Given the description of an element on the screen output the (x, y) to click on. 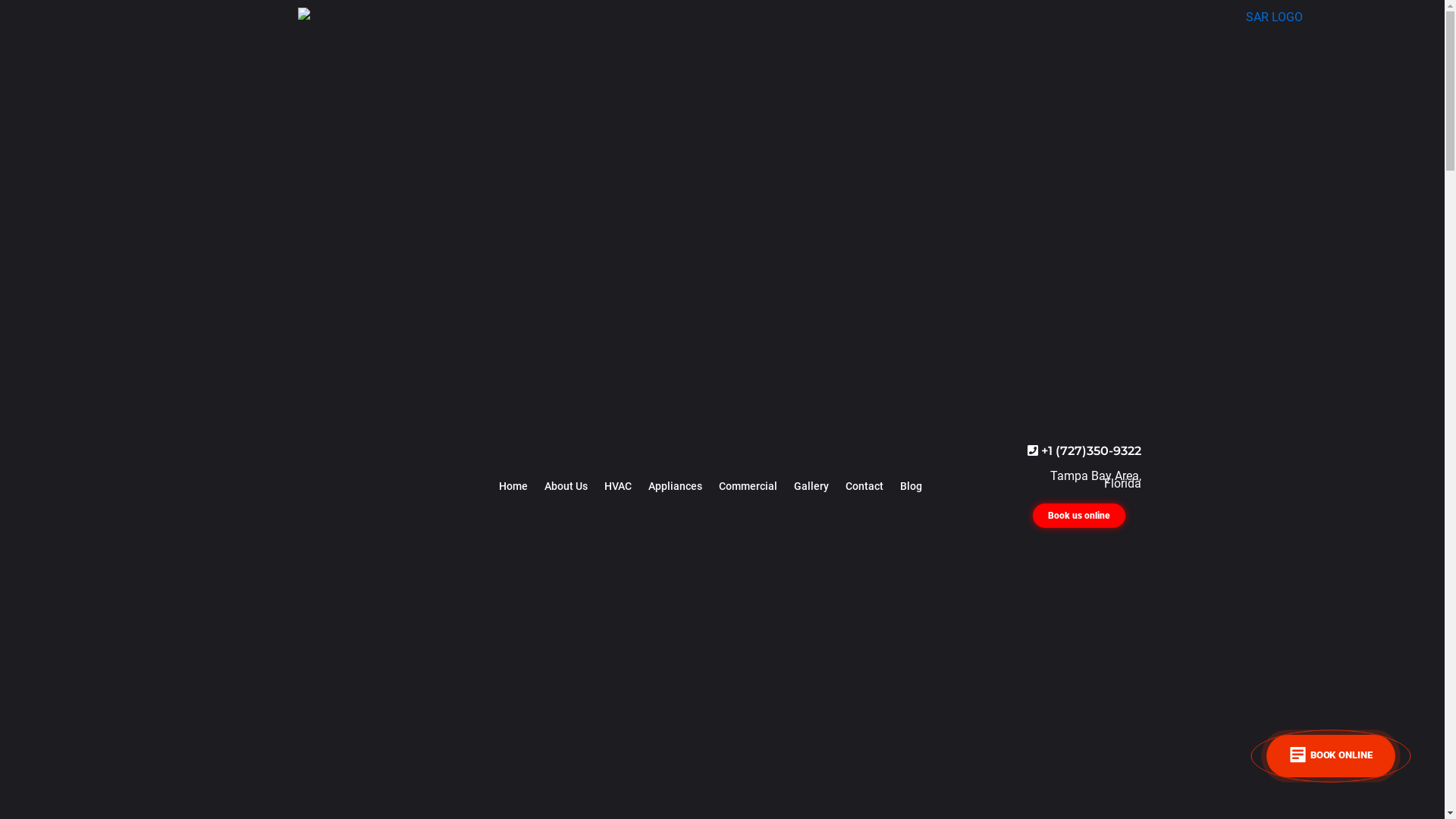
+1 (727)350-9322 Element type: text (1084, 450)
About Us Element type: text (566, 485)
Appliances Element type: text (675, 485)
Book us online Element type: text (1078, 515)
HVAC Element type: text (618, 485)
Home Element type: text (513, 485)
Blog Element type: text (910, 485)
Gallery Element type: text (811, 485)
Contact Element type: text (864, 485)
Commercial Element type: text (747, 485)
